Given the description of an element on the screen output the (x, y) to click on. 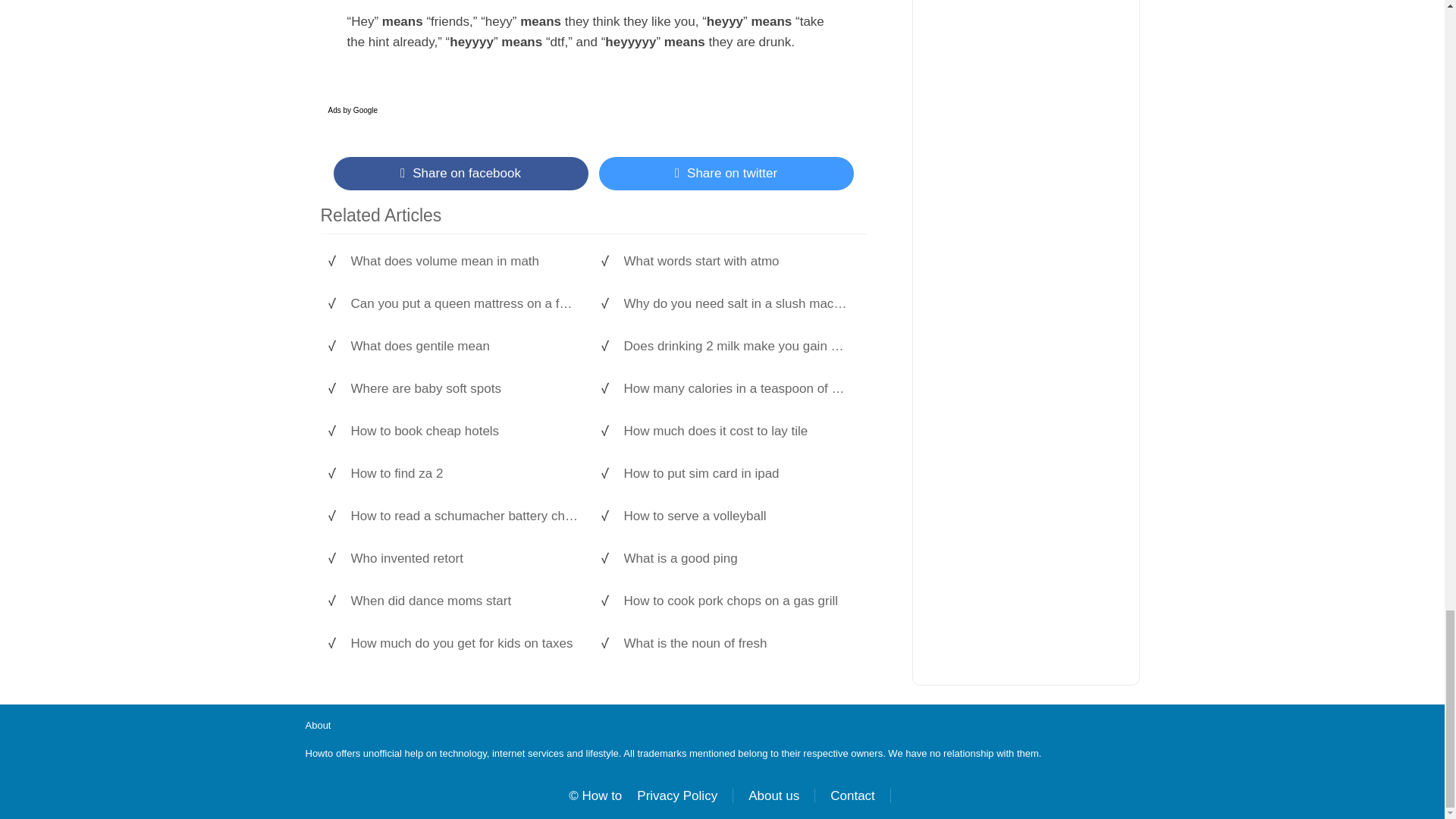
How many calories in a teaspoon of olive oil (736, 388)
What does volume mean in math (464, 261)
What does gentile mean (464, 346)
How to find za 2 (464, 473)
Why do you need salt in a slush machine (736, 304)
How to book cheap hotels (464, 431)
How much does it cost to lay tile (736, 431)
Where are baby soft spots (464, 388)
Can you put a queen mattress on a futon frame (464, 304)
Share on Facebook (460, 173)
